Given the description of an element on the screen output the (x, y) to click on. 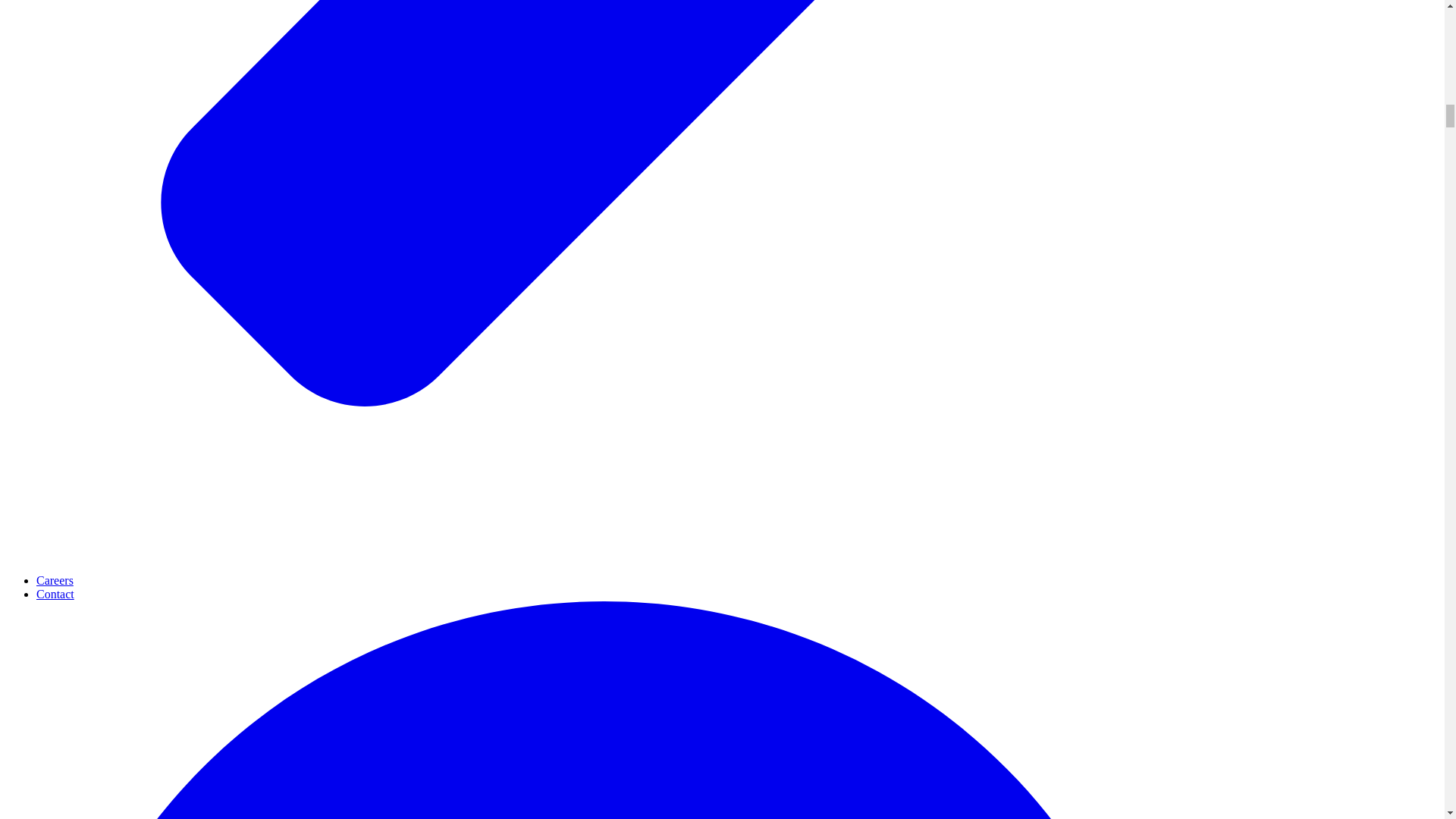
Contact (55, 594)
Careers (55, 580)
